Given the description of an element on the screen output the (x, y) to click on. 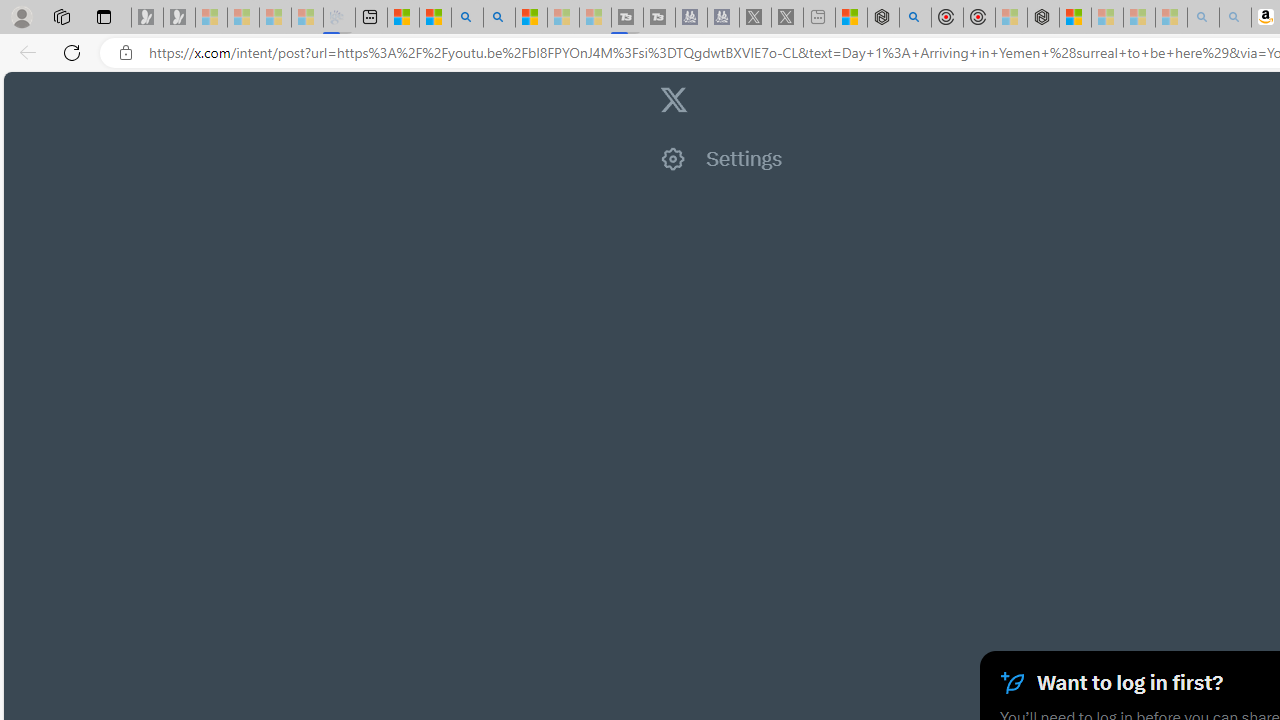
Tab actions menu (104, 16)
Microsoft Start - Sleeping (562, 17)
amazon - Search - Sleeping (1202, 17)
poe - Search (914, 17)
Personal Profile (21, 16)
X - Sleeping (786, 17)
Newsletter Sign Up - Sleeping (178, 17)
Amazon Echo Dot PNG - Search Images - Sleeping (1234, 17)
